Given the description of an element on the screen output the (x, y) to click on. 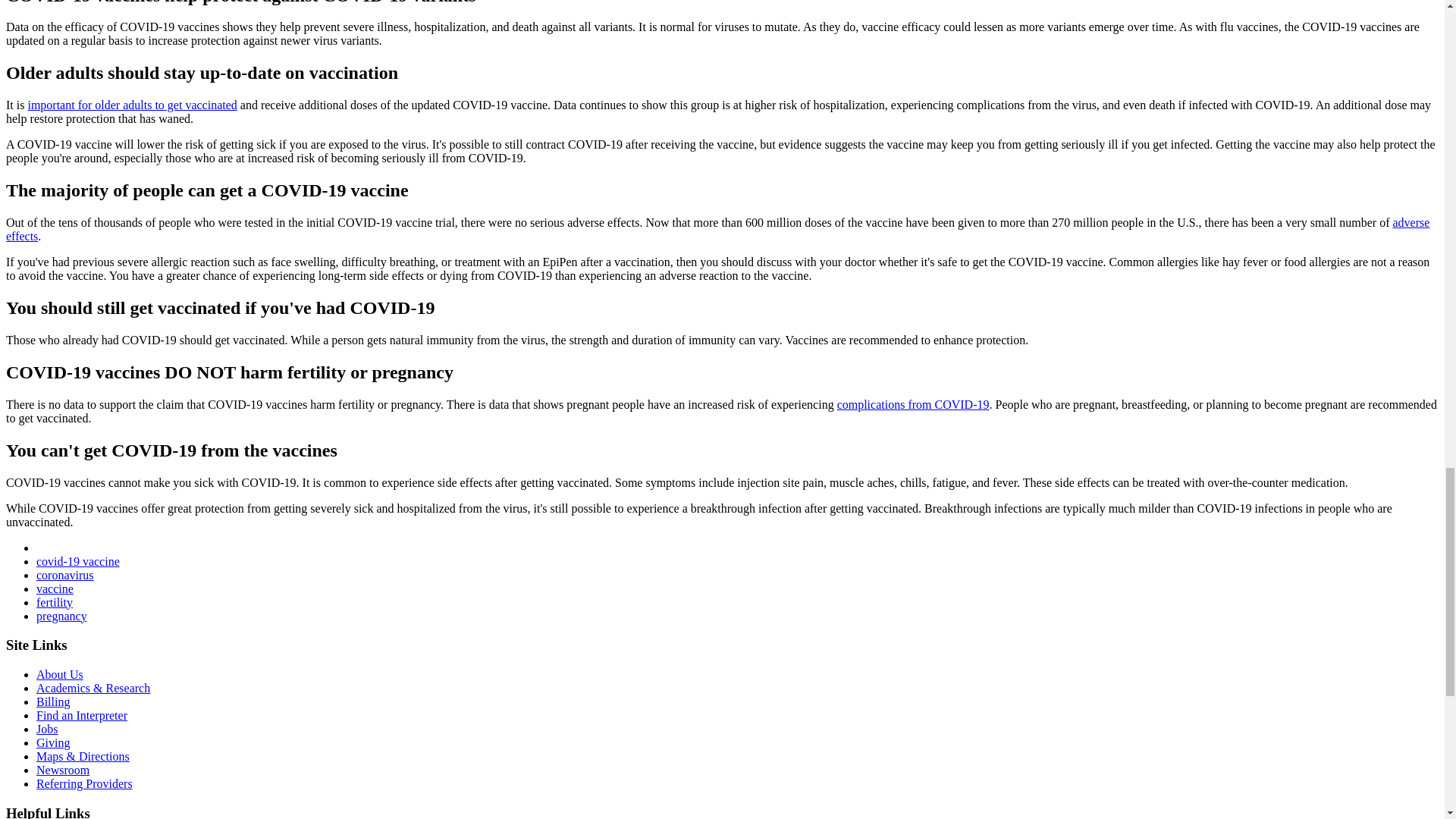
COVID-19 Vaccines and Older Adults (131, 104)
